Given the description of an element on the screen output the (x, y) to click on. 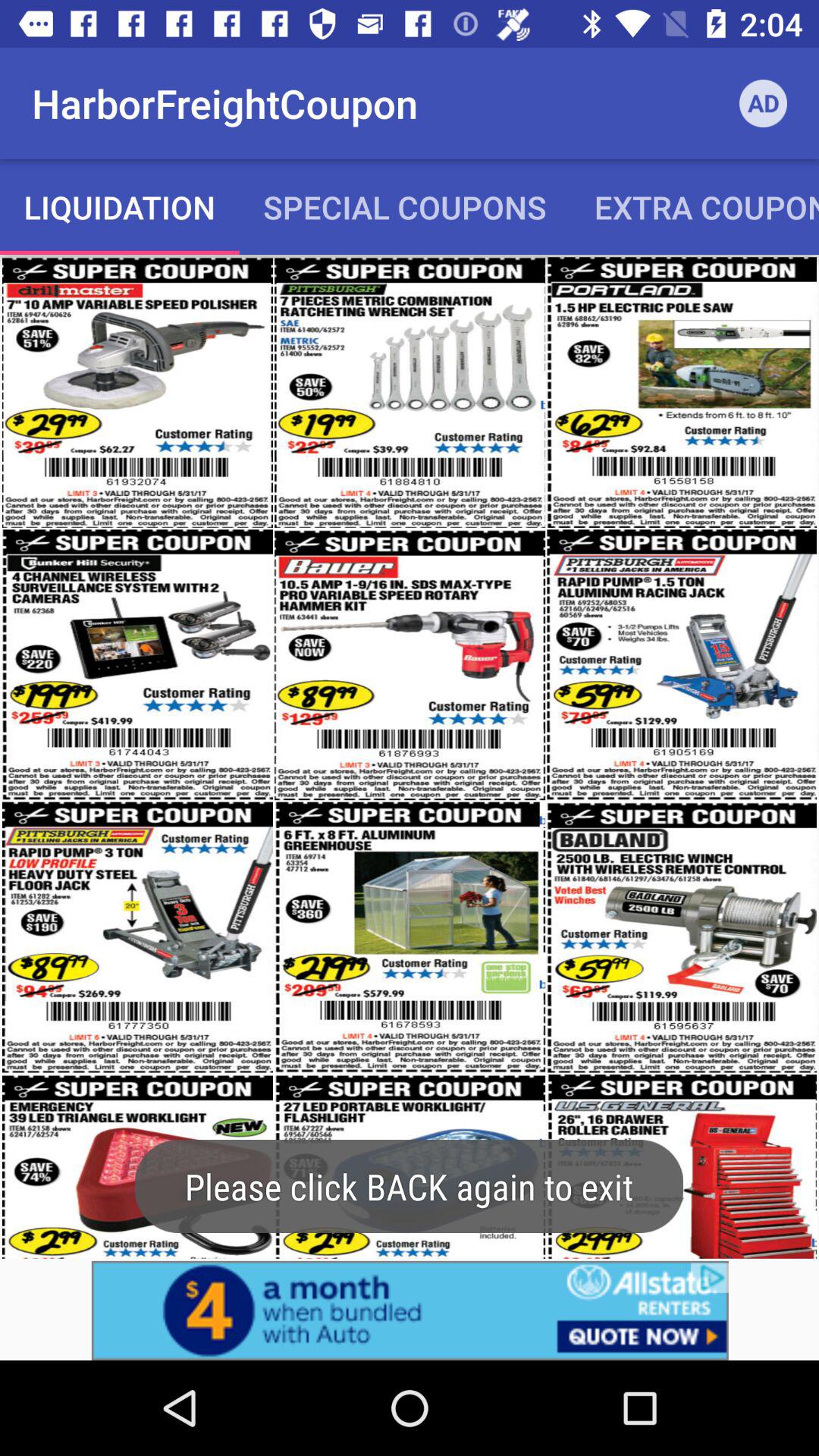
go to paid option (409, 1310)
